Given the description of an element on the screen output the (x, y) to click on. 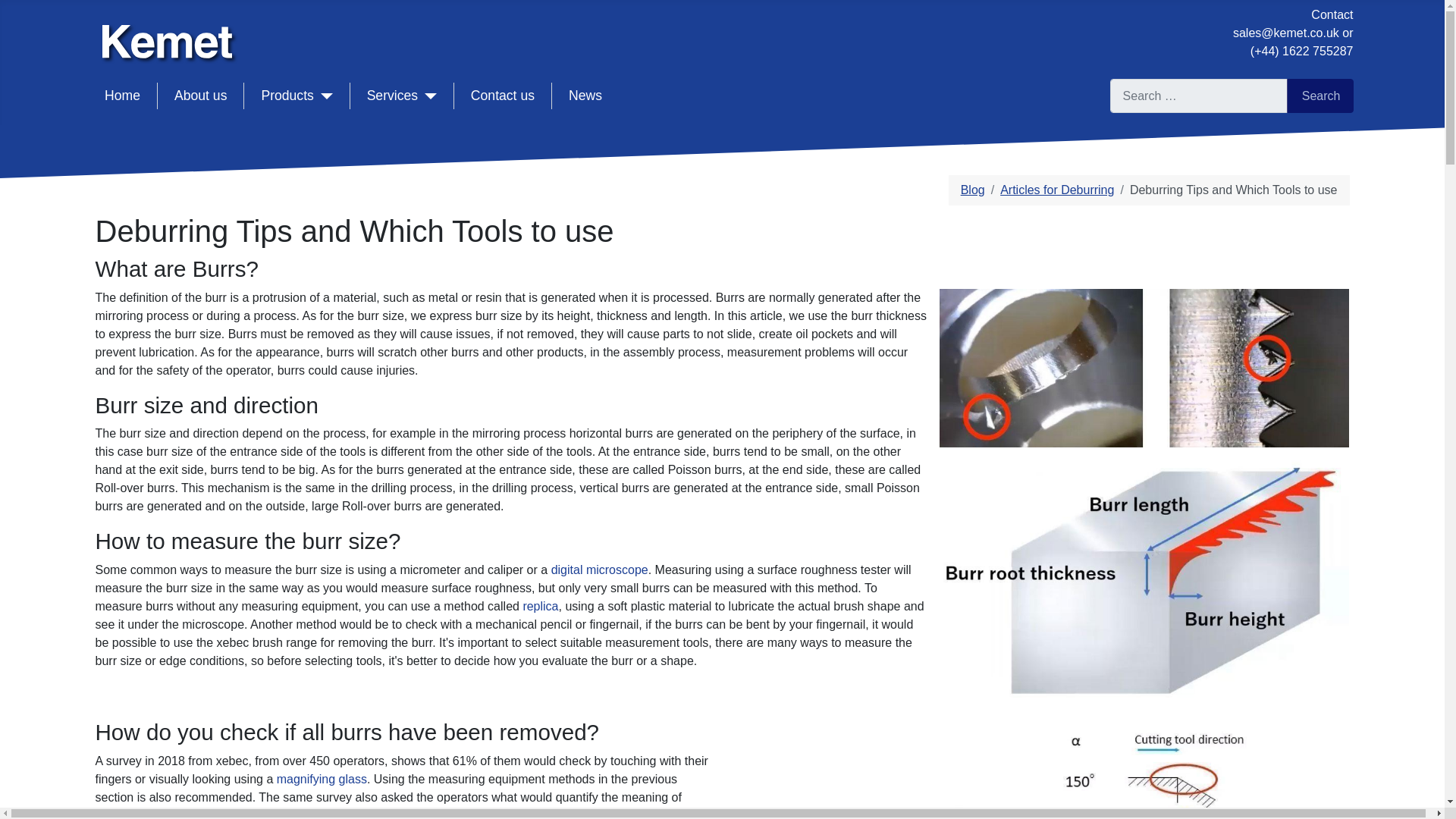
News (585, 95)
About us (200, 95)
Home (121, 95)
Contact us (502, 95)
Contact (1331, 14)
Search (1320, 95)
Products (295, 95)
Services (401, 95)
